Given the description of an element on the screen output the (x, y) to click on. 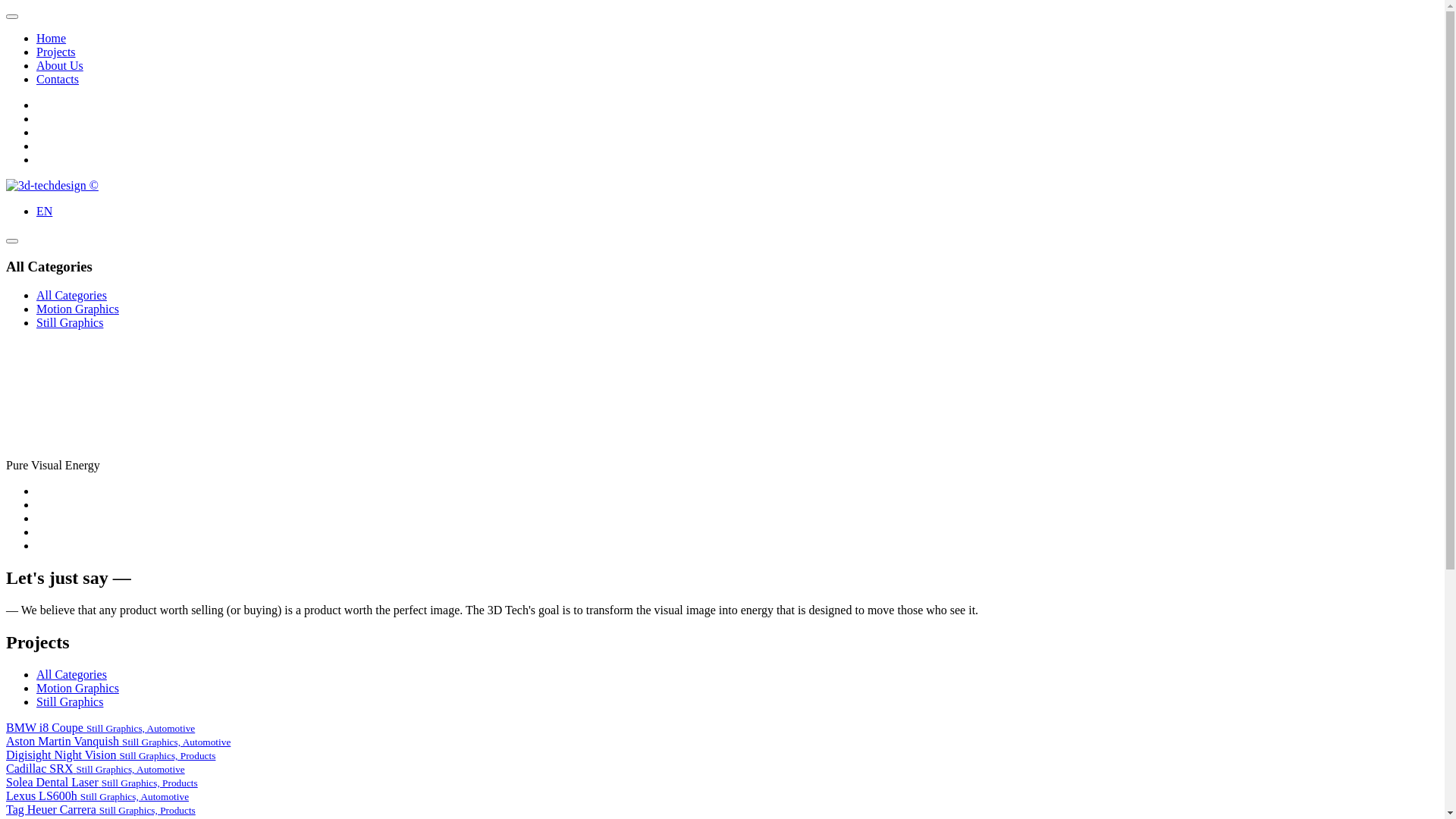
Still Graphics Element type: text (69, 322)
EN Element type: text (44, 210)
Contacts Element type: text (57, 78)
Tag Heuer Carrera Still Graphics, Products Element type: text (100, 809)
Open Menu Element type: hover (12, 240)
Solea Dental Laser Still Graphics, Products Element type: text (101, 781)
Home Element type: text (50, 37)
Still Graphics Element type: text (69, 701)
Aston Martin Vanquish Still Graphics, Automotive Element type: text (118, 740)
Close Menu Element type: hover (12, 16)
Motion Graphics Element type: text (77, 687)
BMW i8 Coupe Still Graphics, Automotive Element type: text (100, 727)
About Us Element type: text (59, 65)
Lexus LS600h Still Graphics, Automotive Element type: text (97, 795)
Cadillac SRX Still Graphics, Automotive Element type: text (95, 768)
Motion Graphics Element type: text (77, 308)
Digisight Night Vision Still Graphics, Products Element type: text (110, 754)
Projects Element type: text (55, 51)
